Given the description of an element on the screen output the (x, y) to click on. 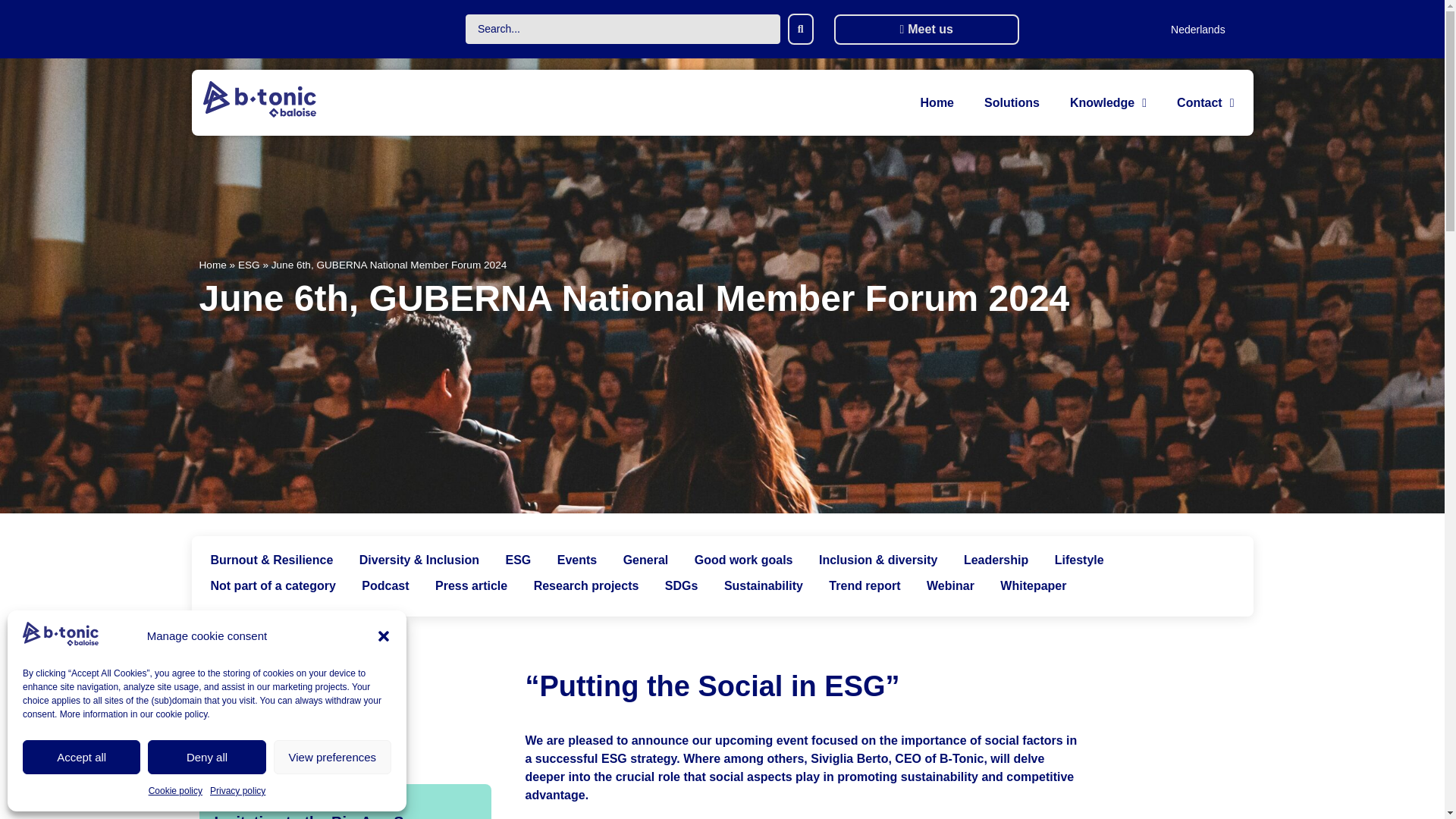
Cookie policy (175, 791)
Meet us (926, 28)
Nederlands (1198, 29)
Solutions (1011, 99)
View preferences (332, 756)
More information in our cookie policy. (134, 714)
Knowledge (1107, 99)
Accept all (81, 756)
Privacy policy (236, 791)
Nederlands (1198, 29)
Home (937, 99)
Deny all (206, 756)
